Given the description of an element on the screen output the (x, y) to click on. 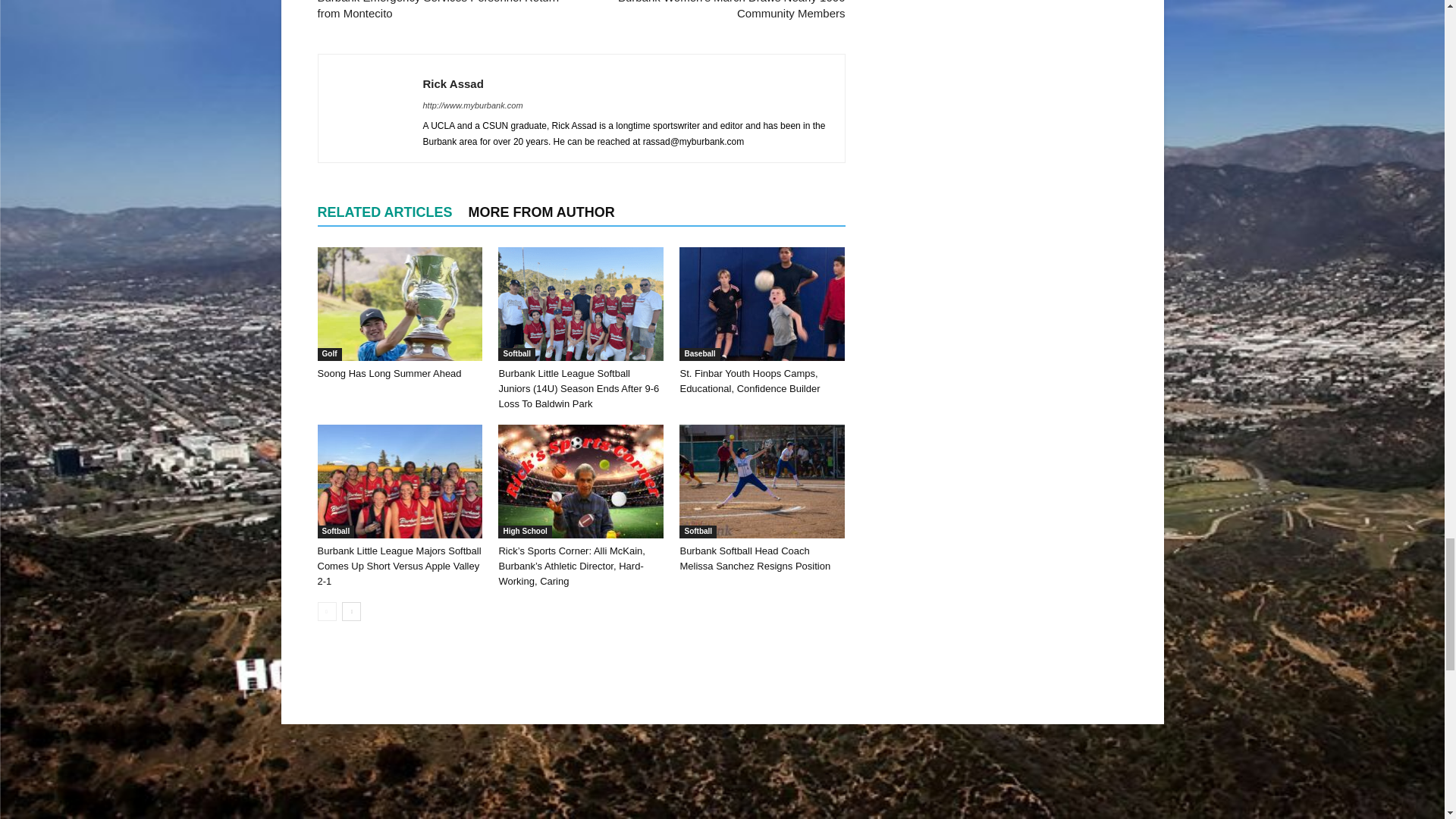
Soong Has Long Summer Ahead (389, 373)
Soong Has Long Summer Ahead (399, 304)
